Given the description of an element on the screen output the (x, y) to click on. 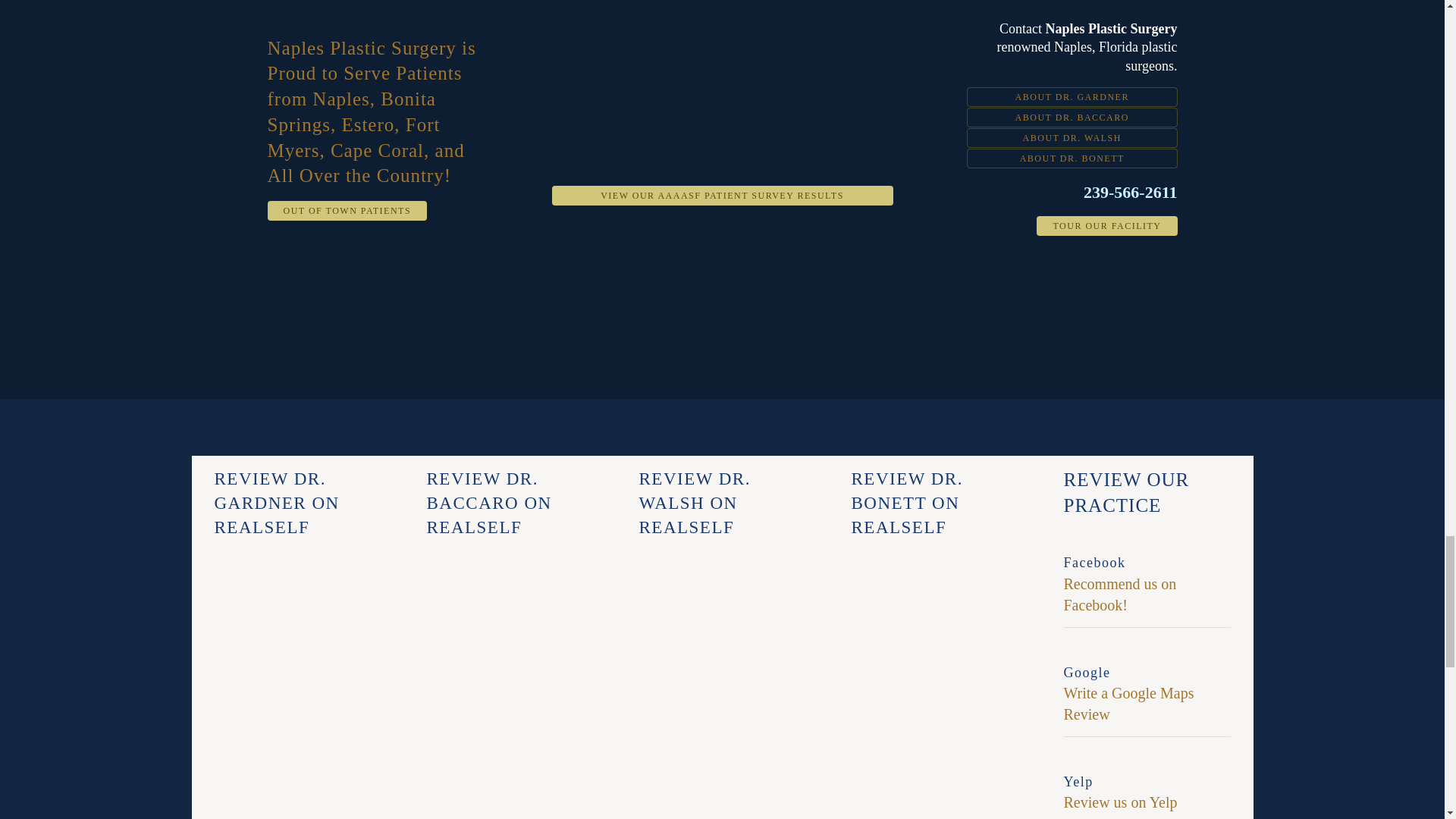
About Dr. Baccaro (1071, 117)
TOUR OUR FACILITY (1106, 225)
Info for Out Of Town Patients (346, 210)
About Dr. Gardner (1071, 96)
